Given the description of an element on the screen output the (x, y) to click on. 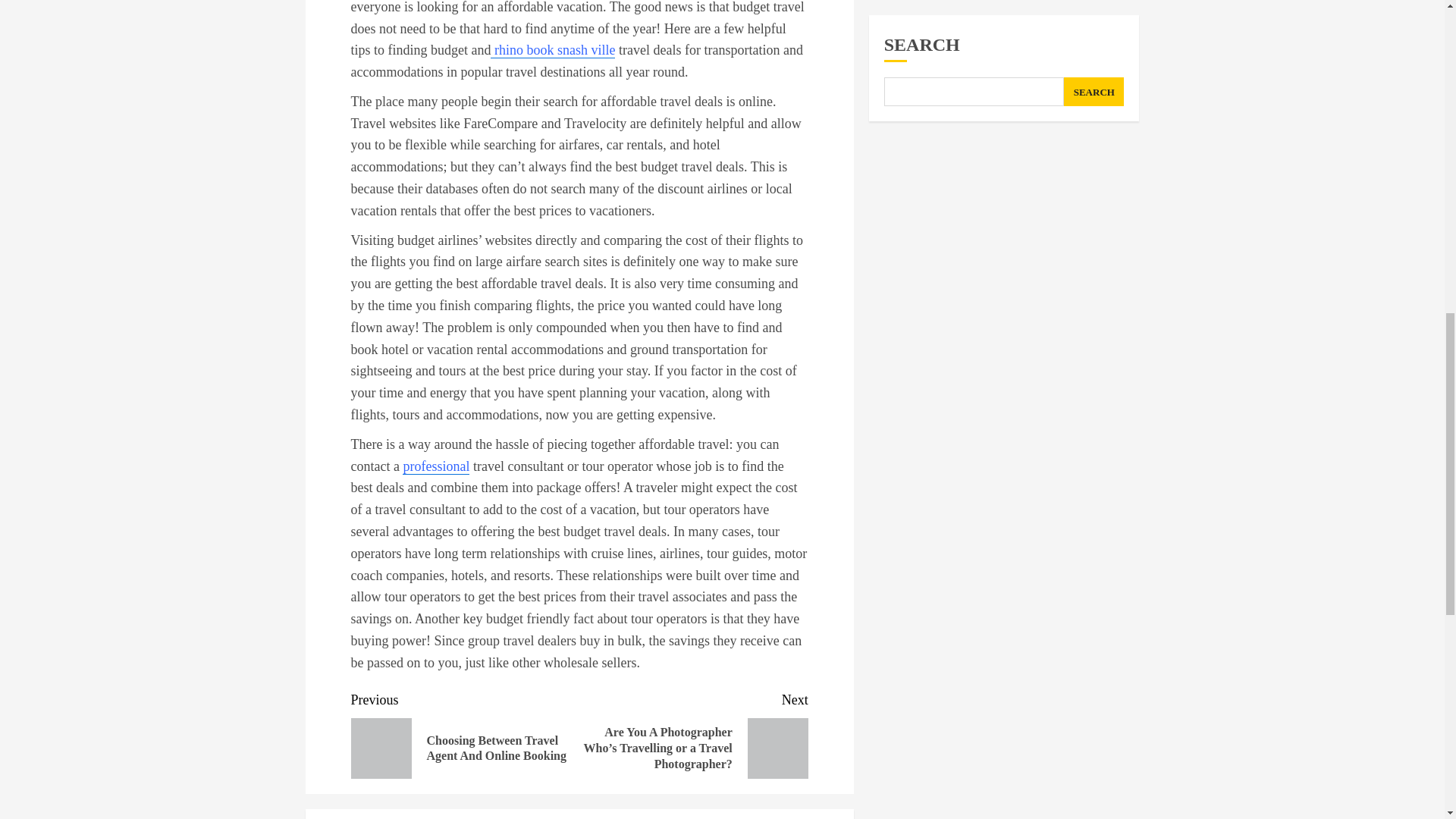
professional (435, 466)
rhino book snash ville (552, 50)
